Given the description of an element on the screen output the (x, y) to click on. 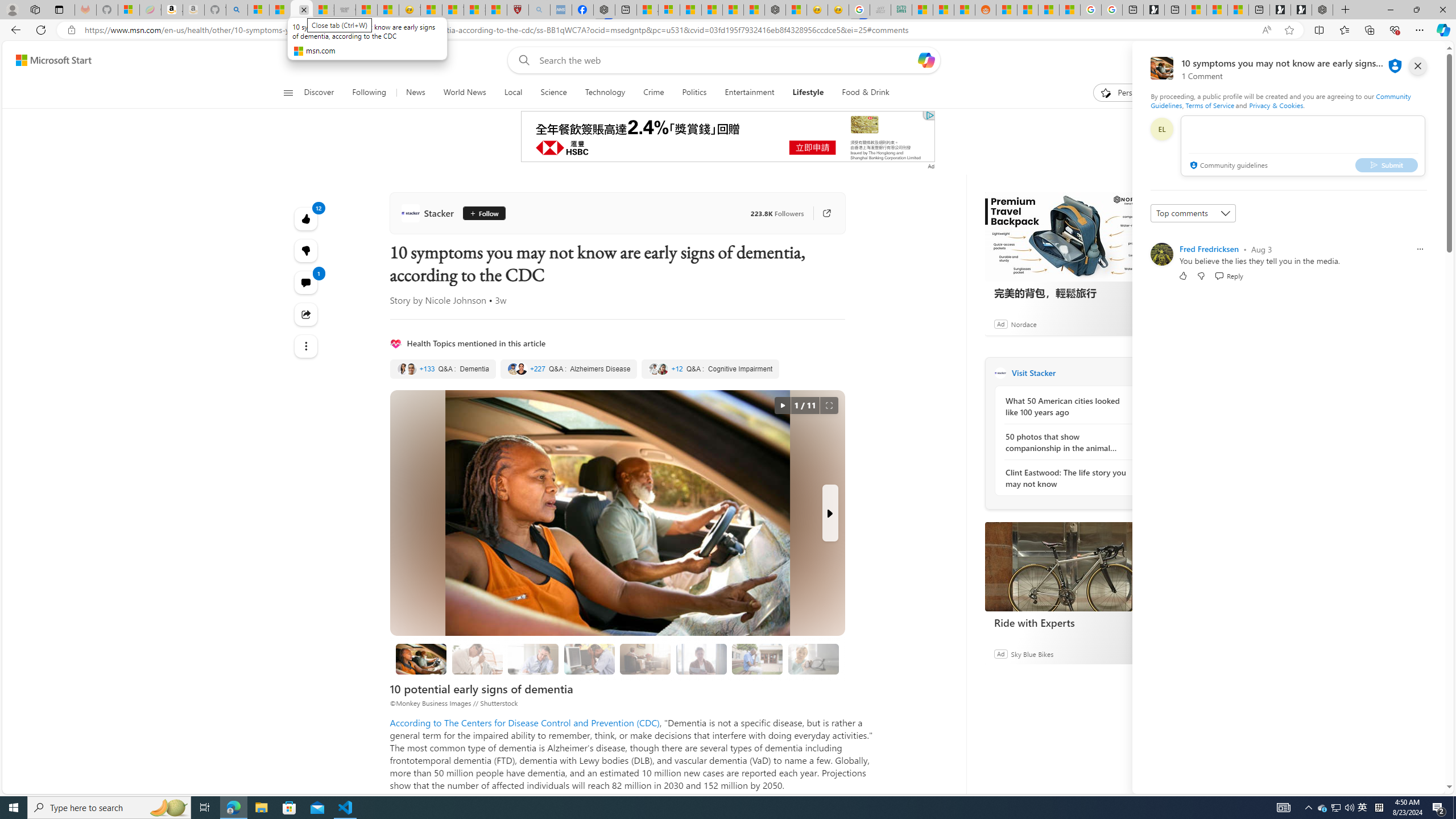
Fred Fredricksen (1209, 248)
Feedback (1402, 784)
Report comment (1419, 249)
autorotate button (782, 405)
R******* | Trusted Community Engagement and Contributions (1006, 9)
View comments 1 Comment (305, 282)
Reply Reply Comment (1228, 275)
MSN (964, 9)
Open Copilot (925, 59)
News (414, 92)
Open settings (1420, 60)
